Given the description of an element on the screen output the (x, y) to click on. 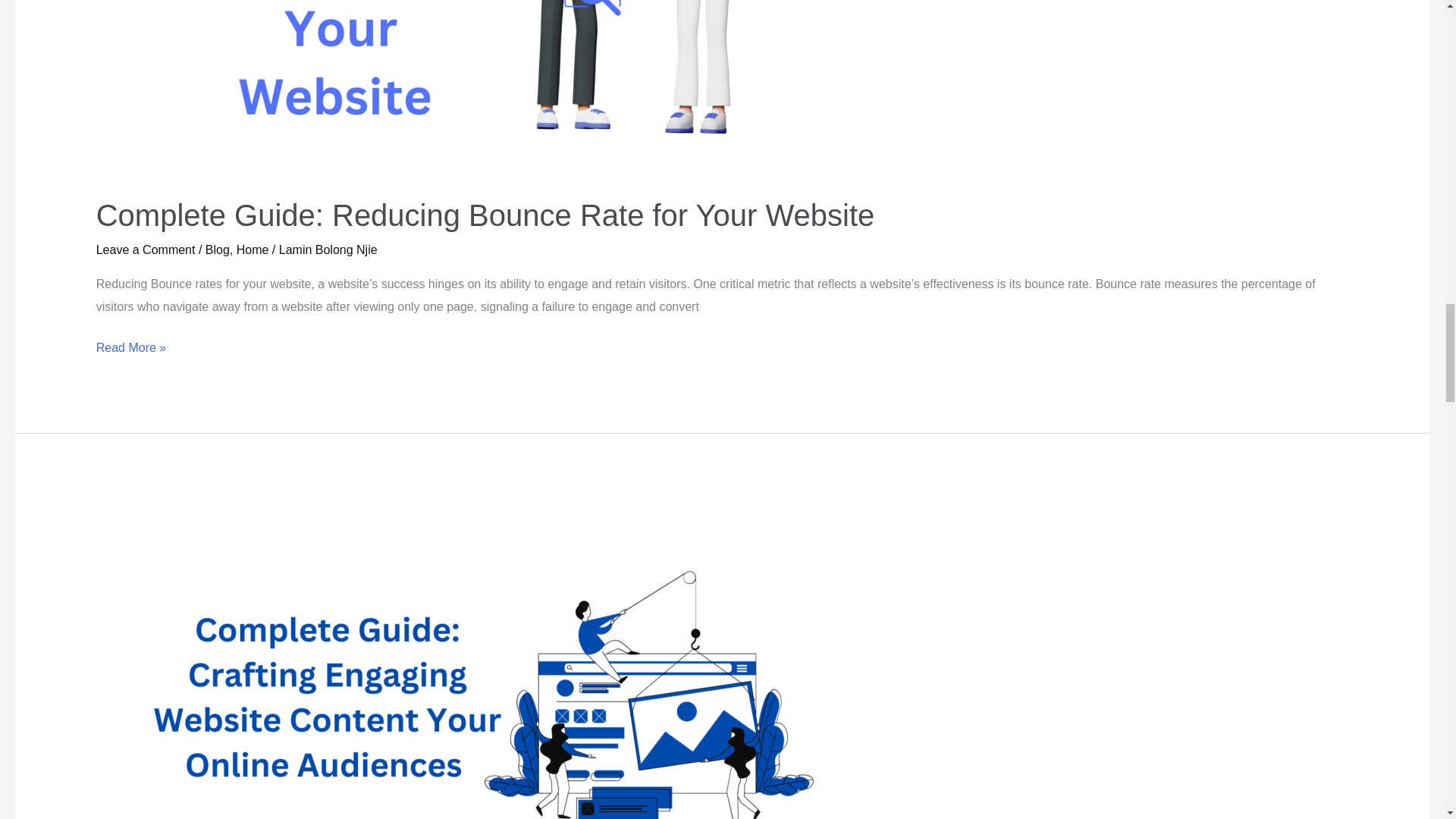
Lamin Bolong Njie (328, 249)
Complete Guide: Reducing Bounce Rate for Your Website  (489, 215)
View all posts by Lamin Bolong Njie (328, 249)
Blog (217, 249)
Home (252, 249)
Leave a Comment (145, 249)
